Given the description of an element on the screen output the (x, y) to click on. 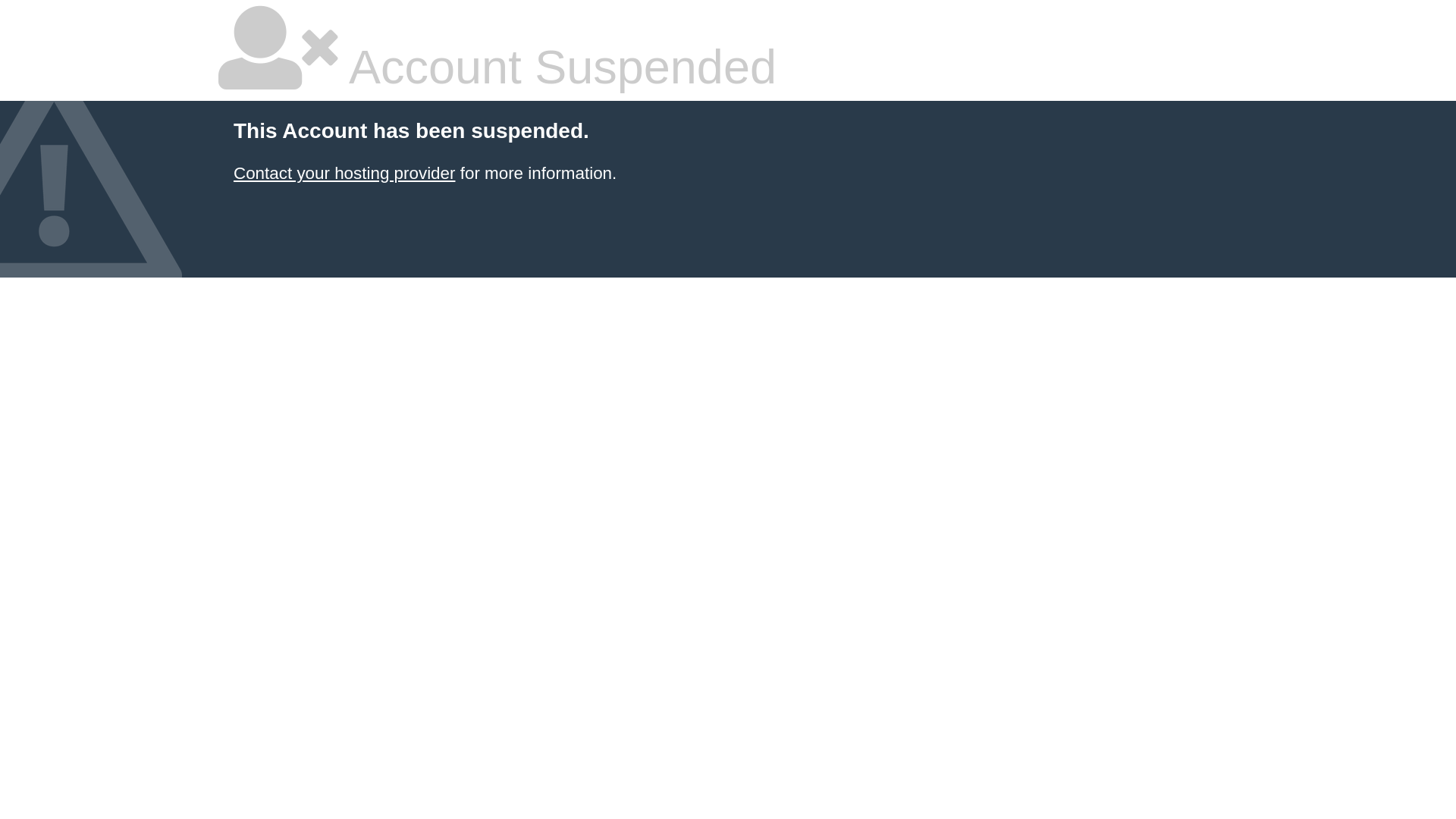
Contact your hosting provider Element type: text (344, 172)
